Given the description of an element on the screen output the (x, y) to click on. 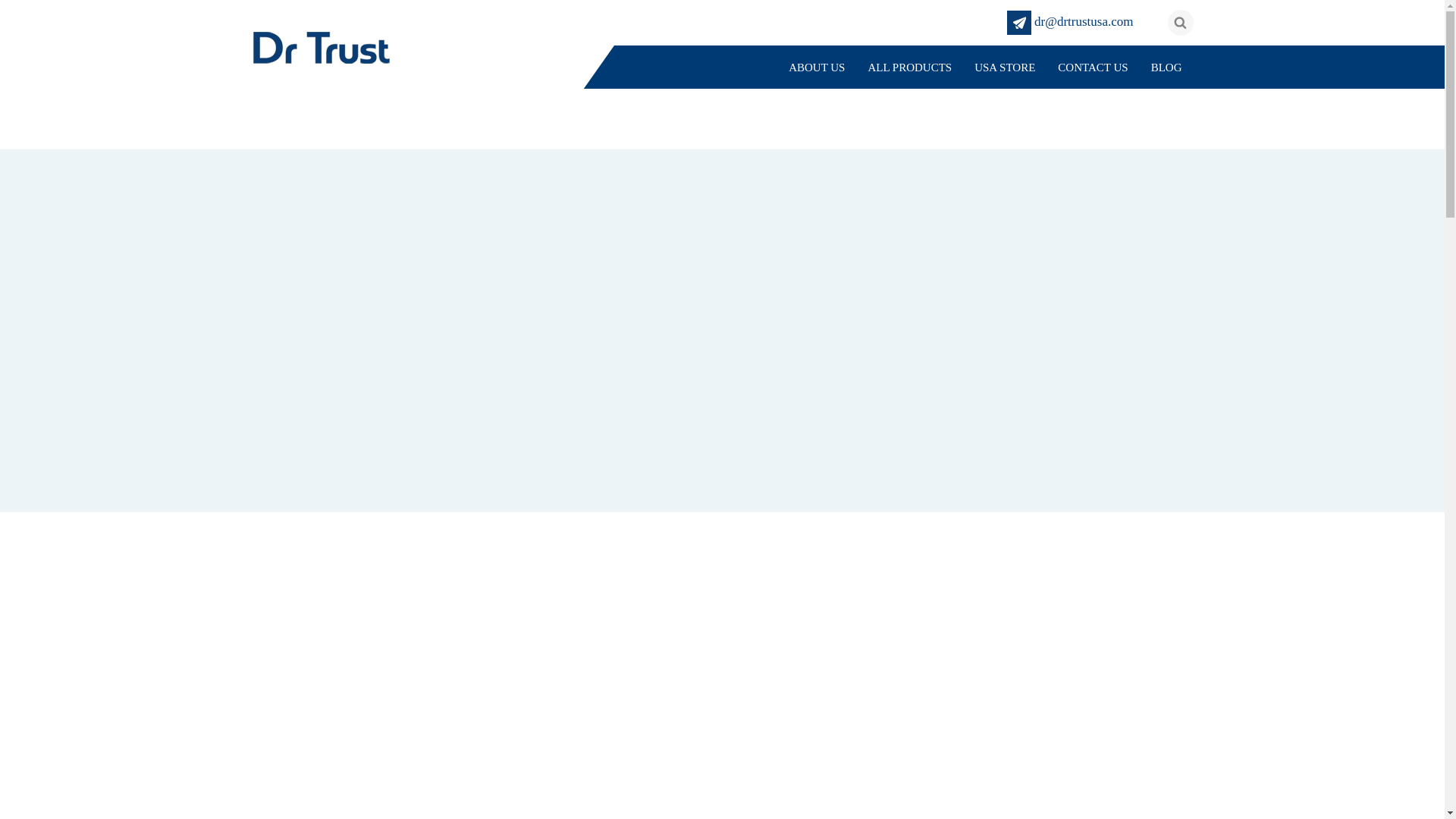
BLOG (1166, 66)
ALL PRODUCTS (909, 66)
USA STORE (1004, 66)
ABOUT US (816, 66)
CONTACT US (1092, 66)
